Given the description of an element on the screen output the (x, y) to click on. 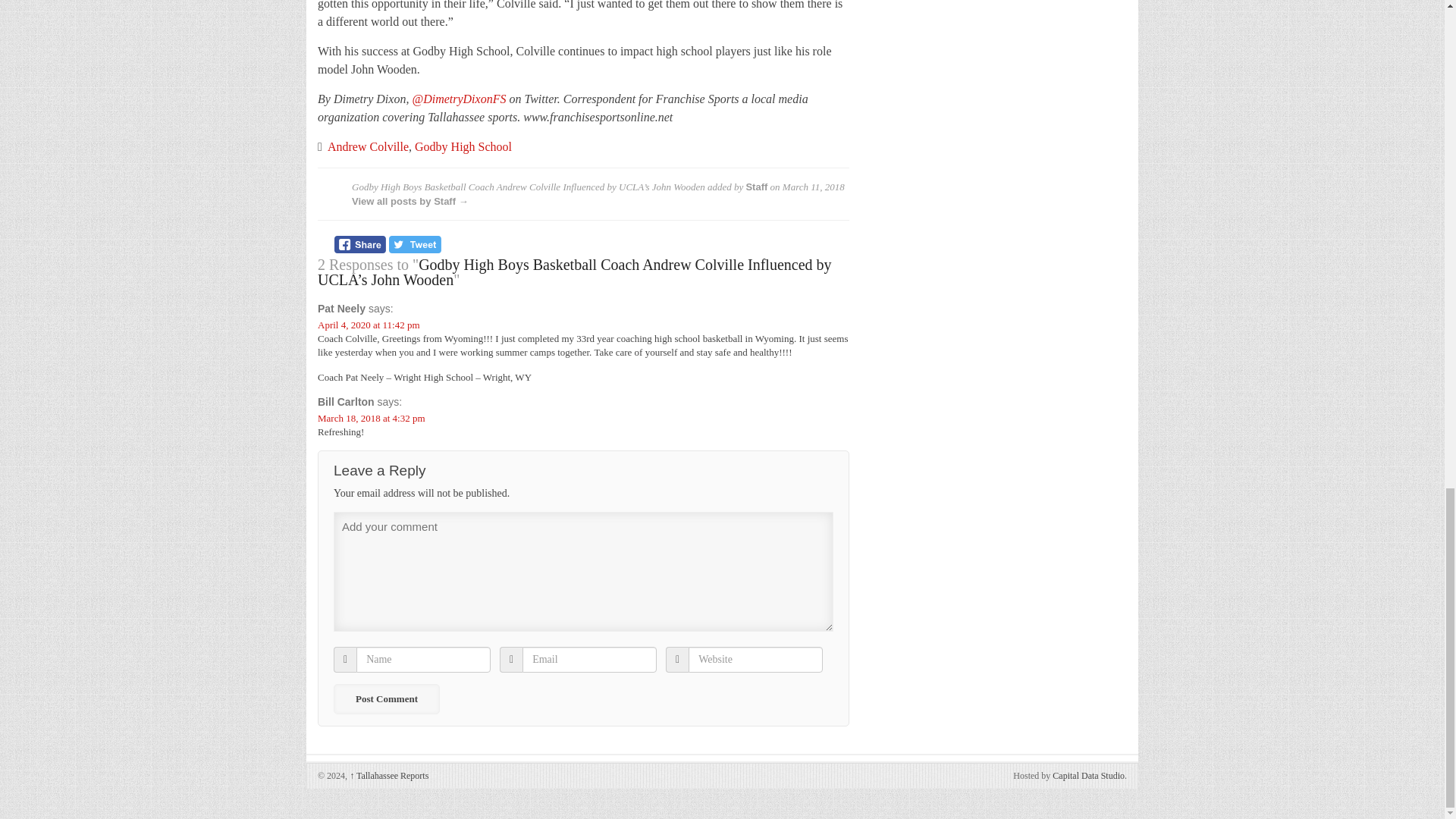
Post Comment (386, 698)
